Given the description of an element on the screen output the (x, y) to click on. 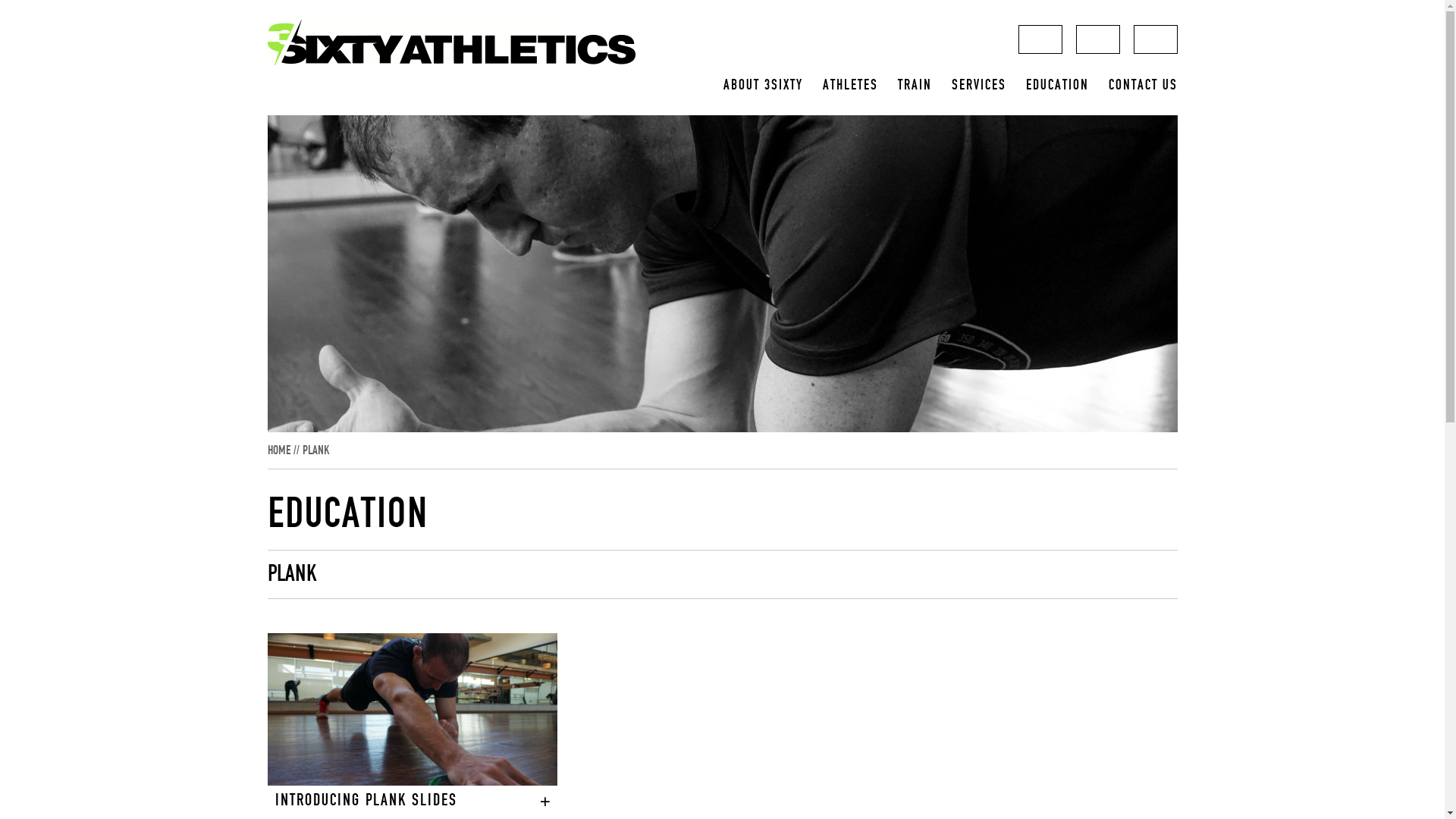
CONTACT US Element type: text (1142, 85)
SERVICES Element type: text (977, 85)
EDUCATION Element type: text (1056, 85)
Introducing Plank Slides Element type: hover (411, 709)
ATHLETES Element type: text (849, 85)
ABOUT 3SIXTY Element type: text (763, 85)
TRAIN Element type: text (914, 85)
HOME Element type: text (277, 450)
